Given the description of an element on the screen output the (x, y) to click on. 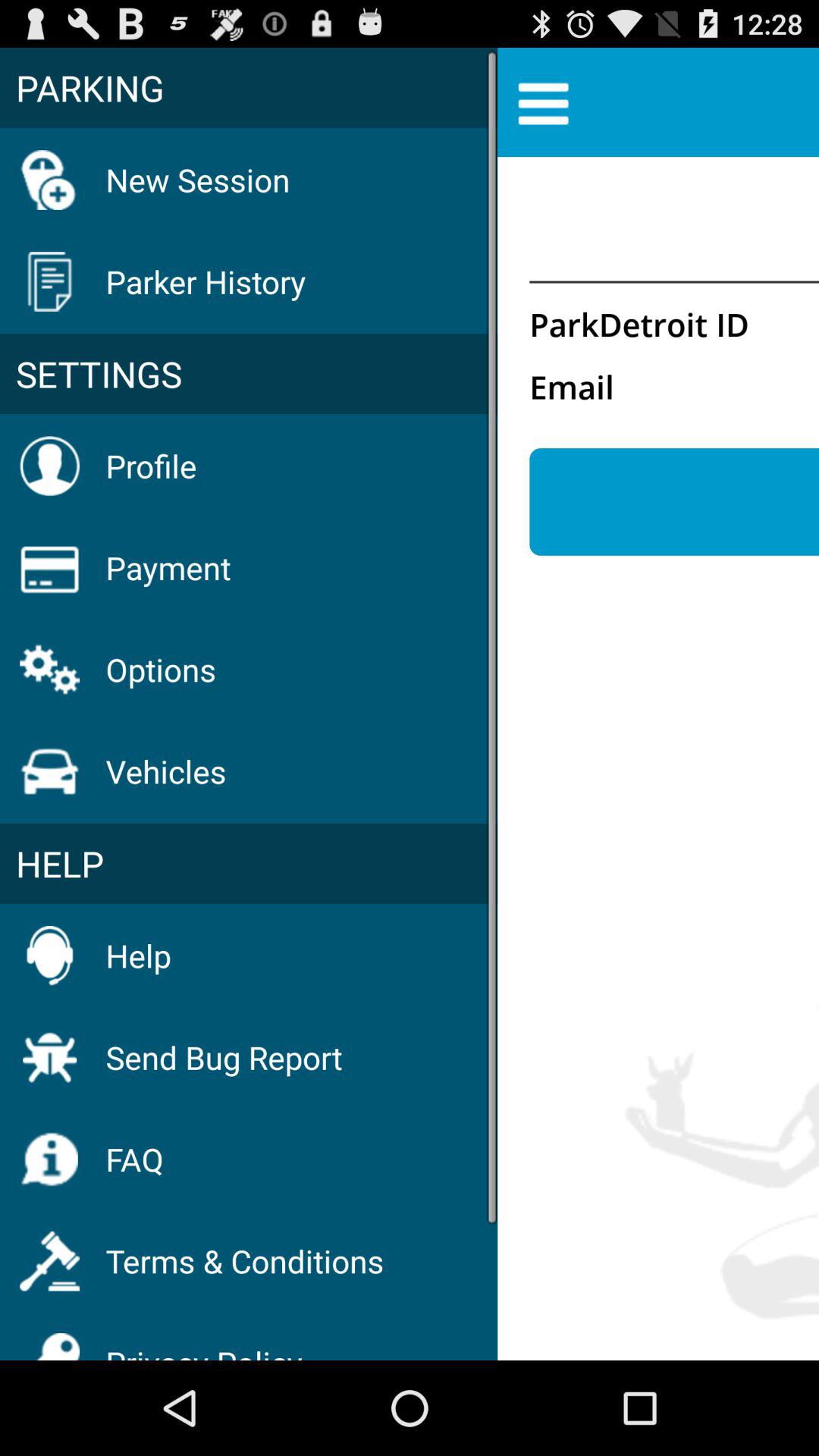
scroll to the new session icon (197, 179)
